Given the description of an element on the screen output the (x, y) to click on. 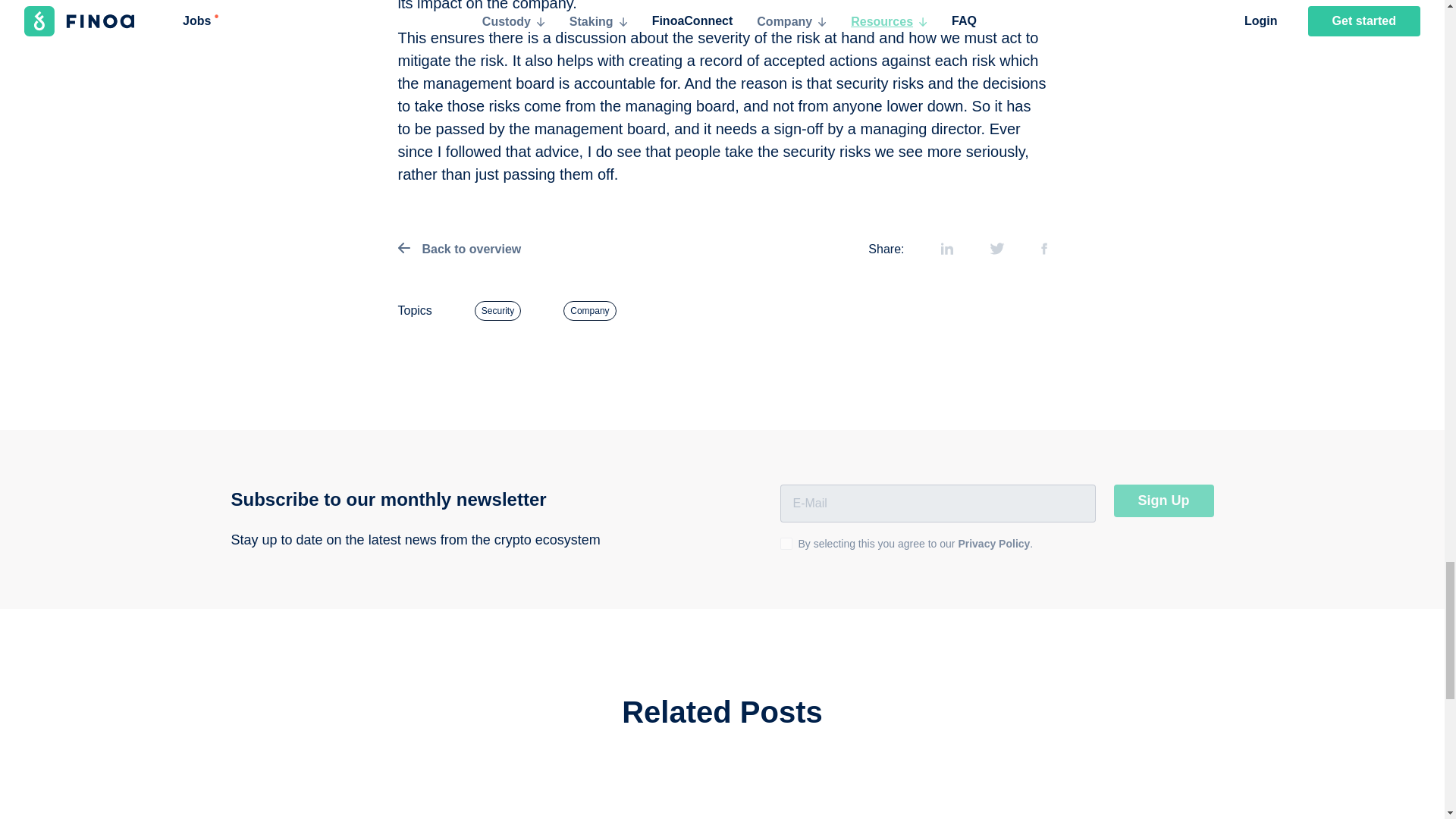
on (785, 543)
